Given the description of an element on the screen output the (x, y) to click on. 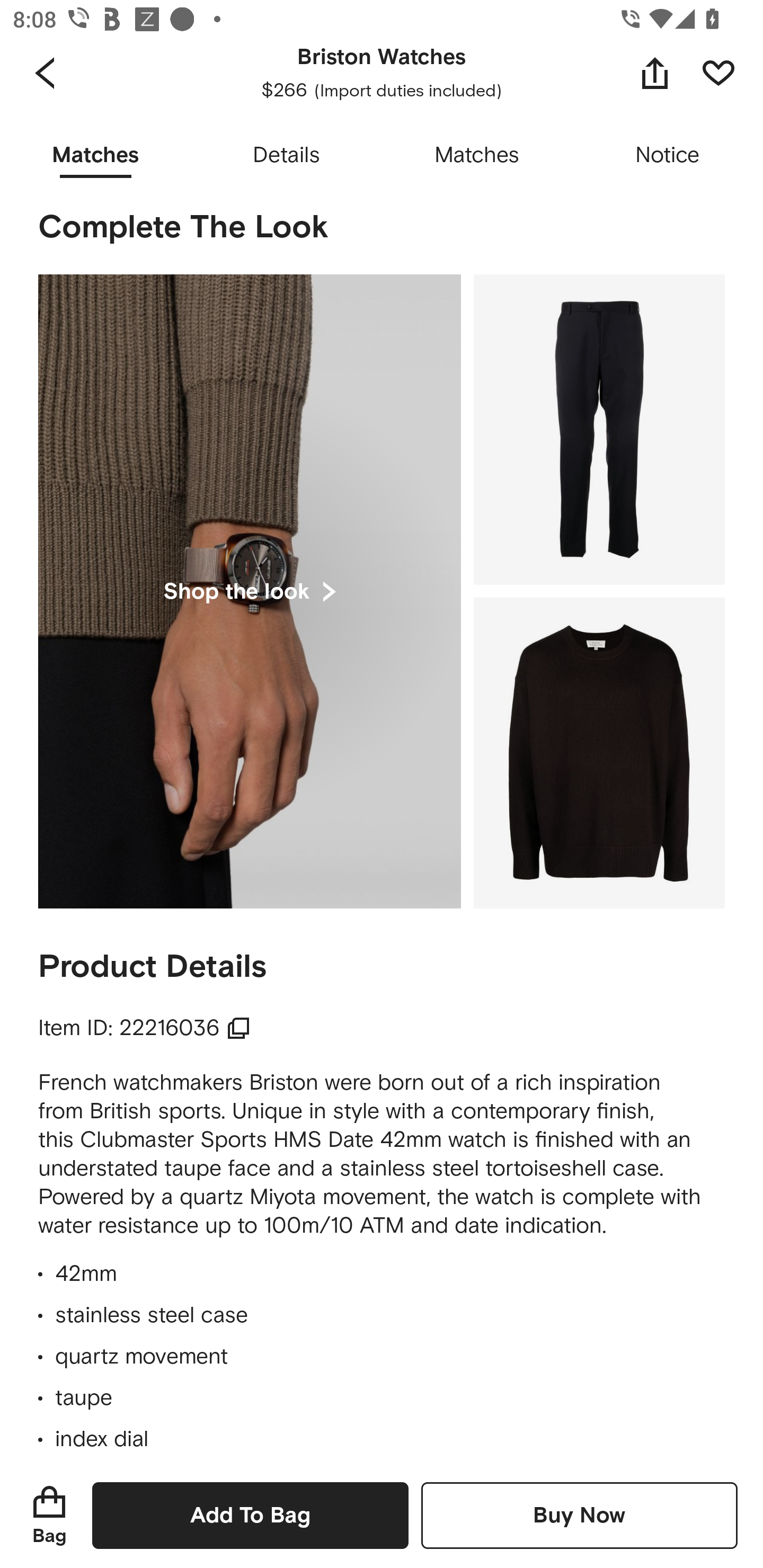
Details (285, 155)
Matches (476, 155)
Notice (667, 155)
Item ID: 22216036 (144, 1028)
Bag (49, 1515)
Add To Bag (250, 1515)
Buy Now (579, 1515)
